Given the description of an element on the screen output the (x, y) to click on. 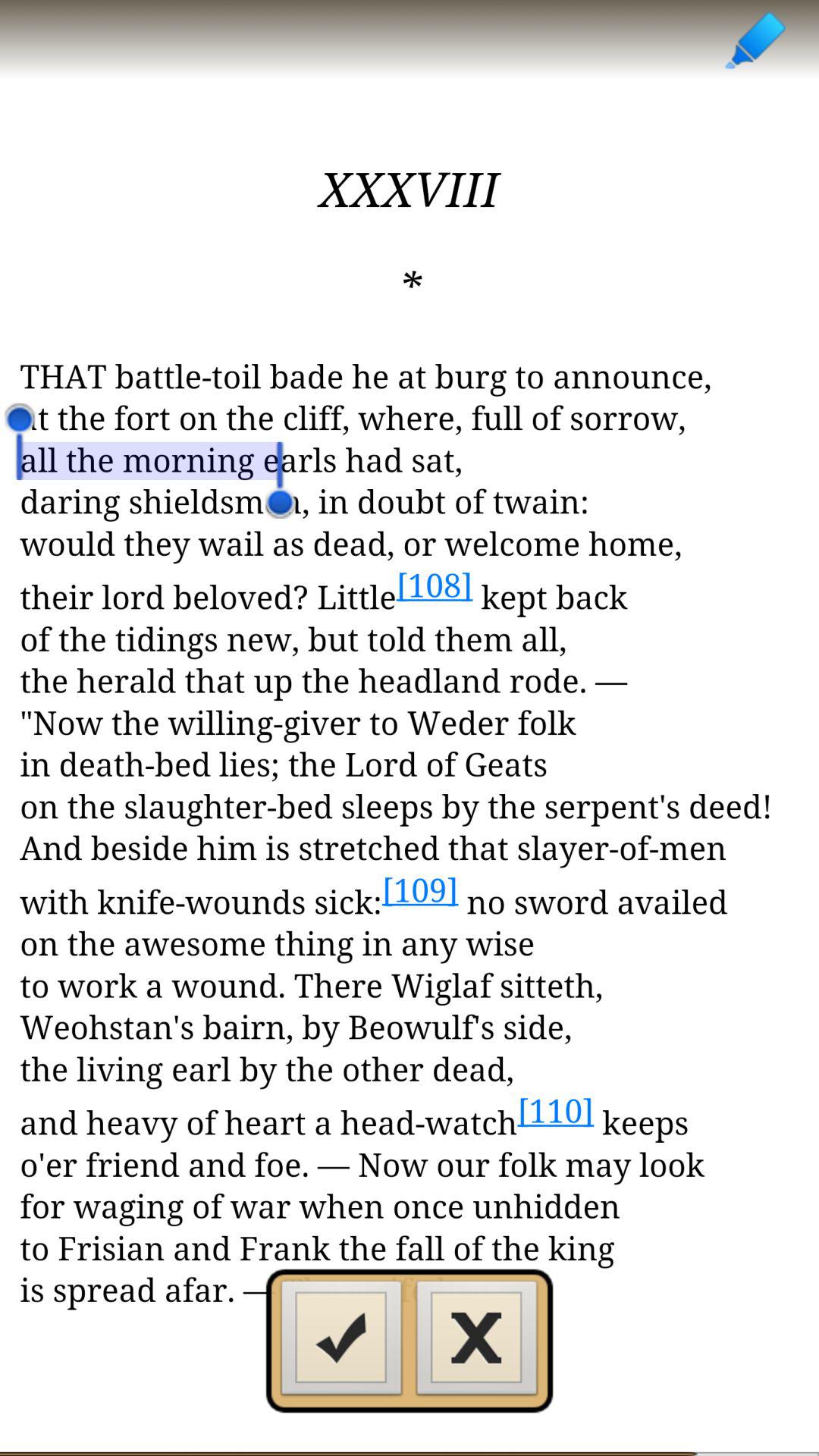
adding button (341, 1341)
